Given the description of an element on the screen output the (x, y) to click on. 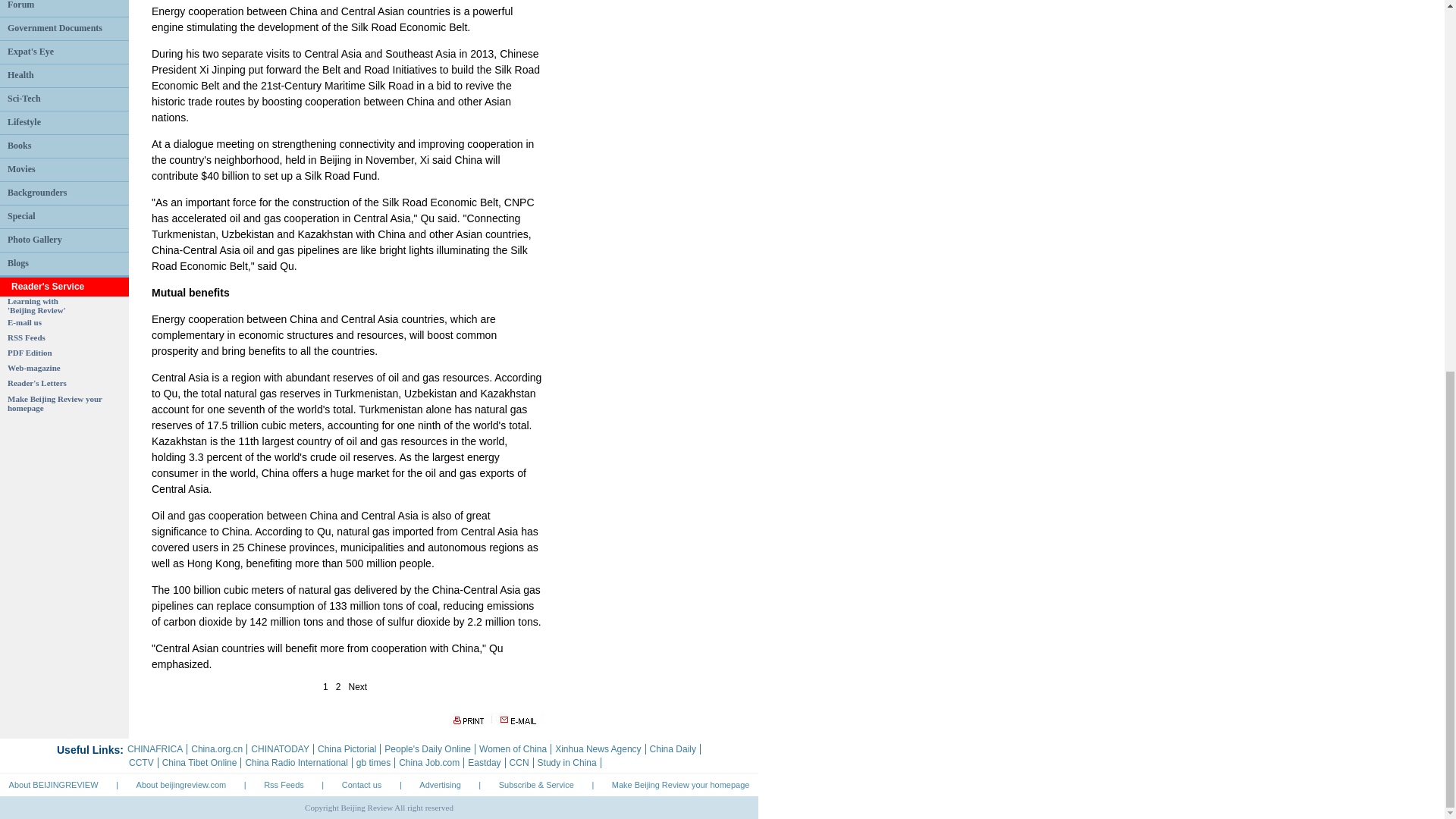
Sci-Tech (23, 98)
Forum (20, 4)
Movies (20, 168)
Reader's Letters (36, 382)
RSS Feeds (26, 337)
E-mail us (24, 321)
Special (20, 215)
Blogs (18, 262)
Backgrounders (36, 192)
Lifestyle (36, 305)
Expat's Eye (23, 122)
Make Beijing Review your homepage (30, 50)
Books (54, 402)
Health (18, 145)
